Given the description of an element on the screen output the (x, y) to click on. 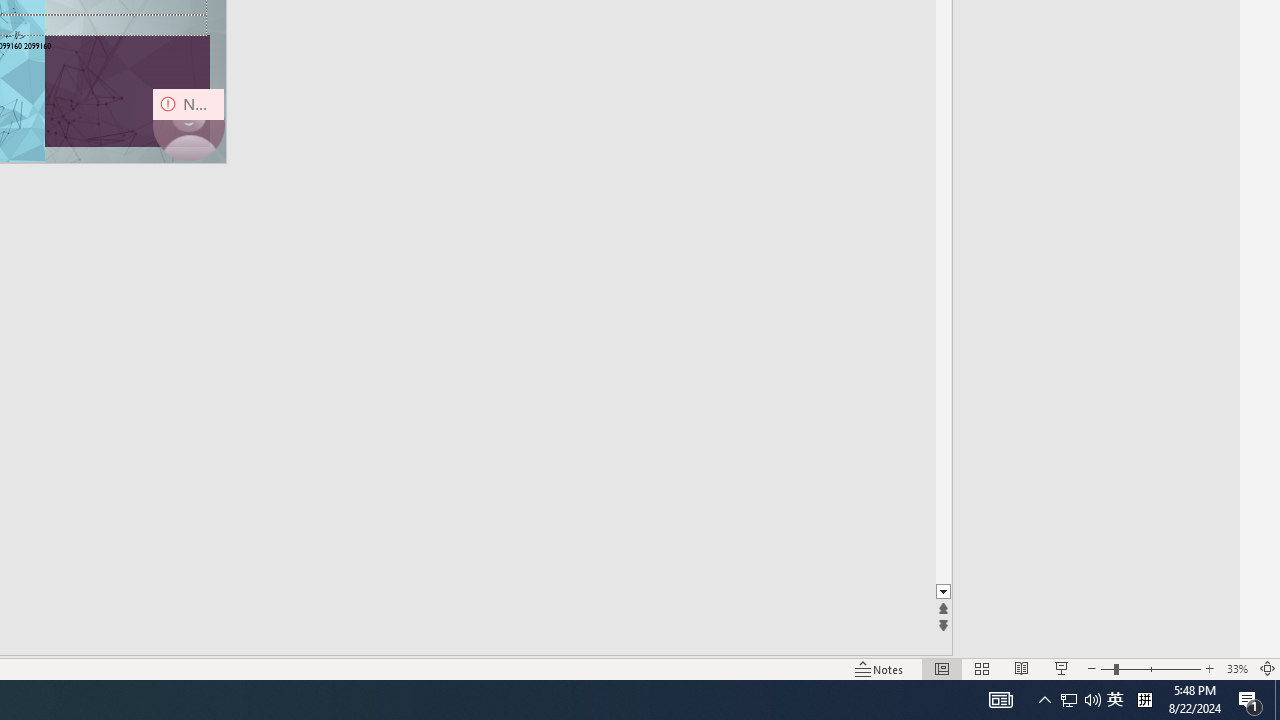
Notes  (879, 668)
Slide Show (1061, 668)
Zoom In (1209, 668)
Slide Sorter (982, 668)
Zoom (1150, 668)
Camera 16, No camera detected. (188, 124)
Zoom Out (1106, 668)
Zoom 33% (1236, 668)
Line down (943, 592)
Normal (941, 668)
TextBox 7 (15, 36)
Reading View (1021, 668)
Zoom to Fit  (1267, 668)
